Given the description of an element on the screen output the (x, y) to click on. 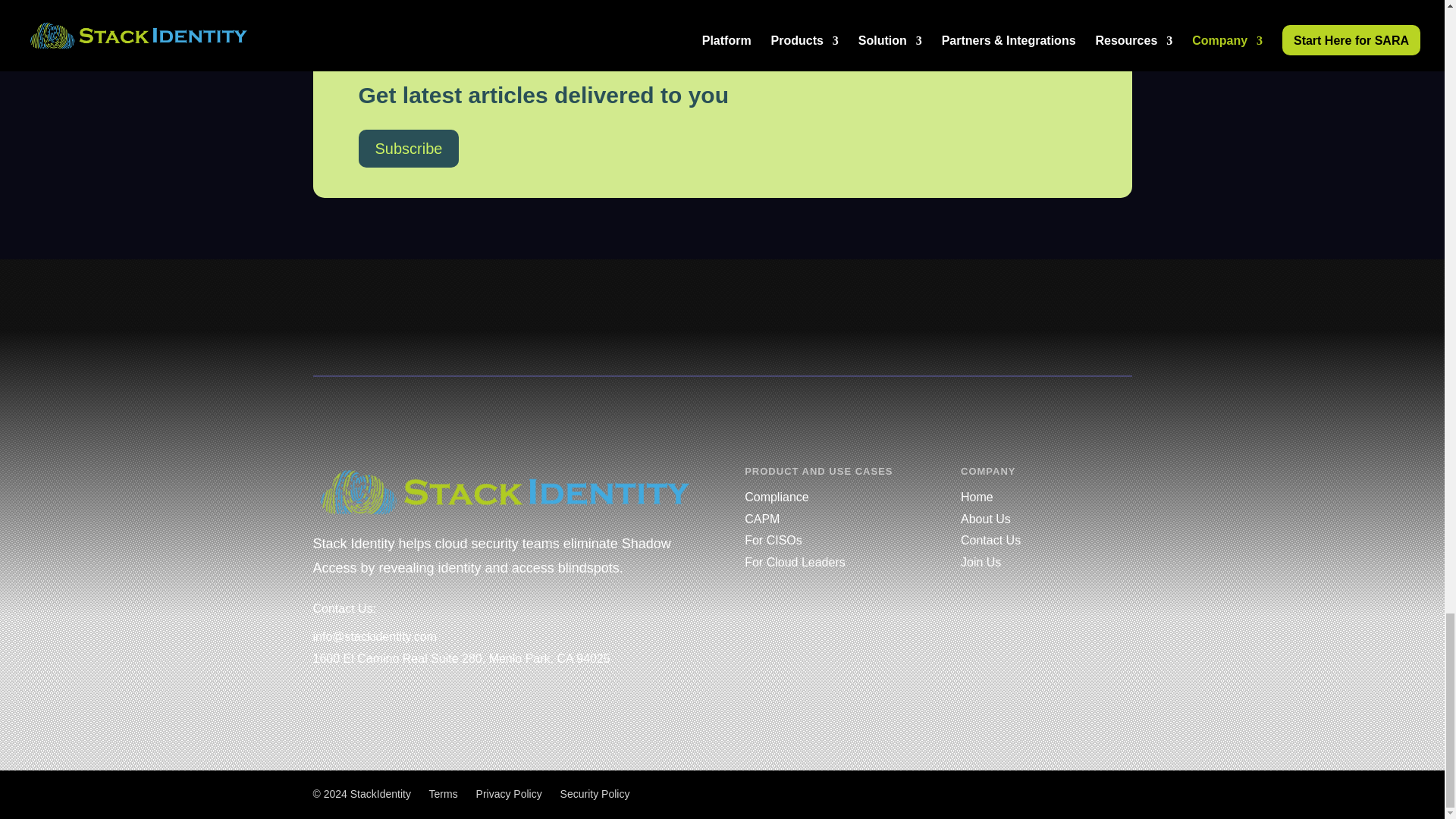
Compliance (776, 496)
For Cloud Leaders (794, 562)
Join Us (980, 562)
Stack Identity (505, 491)
CAPM (761, 518)
Privacy Policy (508, 793)
Contact Us (990, 540)
Home (976, 496)
For CISOs (773, 540)
Security Policy (595, 793)
Subscribe (408, 148)
About Us (985, 518)
Terms (443, 793)
StackIdentity (380, 793)
